Given the description of an element on the screen output the (x, y) to click on. 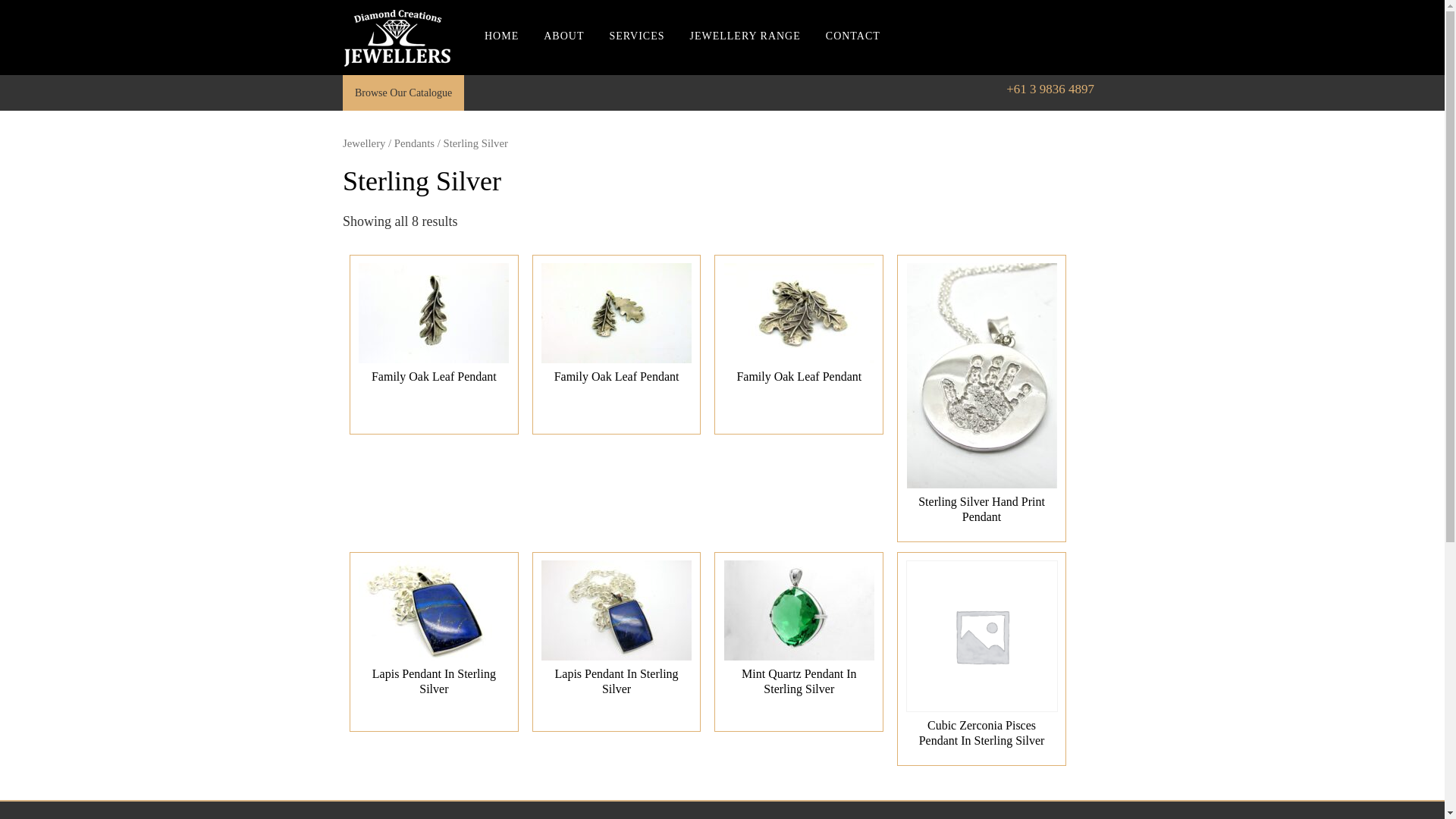
SERVICES Element type: text (636, 53)
Jewellery Element type: text (363, 143)
Pendants Element type: text (414, 143)
Lapis Pendant In Sterling Silver Element type: text (616, 633)
Cubic Zerconia Pisces Pendant In Sterling Silver Element type: text (981, 658)
Browse Our Catalogue Element type: text (403, 92)
Lapis Pendant In Sterling Silver Element type: text (433, 633)
Family Oak Leaf Pendant Element type: text (798, 328)
Family Oak Leaf Pendant Element type: text (616, 328)
CONTACT Element type: text (853, 53)
Mint Quartz Pendant In Sterling Silver Element type: text (798, 633)
+61 3 9836 4897 Element type: text (1049, 89)
Sterling Silver Hand Print Pendant Element type: text (981, 398)
HOME Element type: text (501, 53)
Family Oak Leaf Pendant Element type: text (433, 328)
JEWELLERY RANGE Element type: text (744, 53)
ABOUT Element type: text (563, 53)
